Given the description of an element on the screen output the (x, y) to click on. 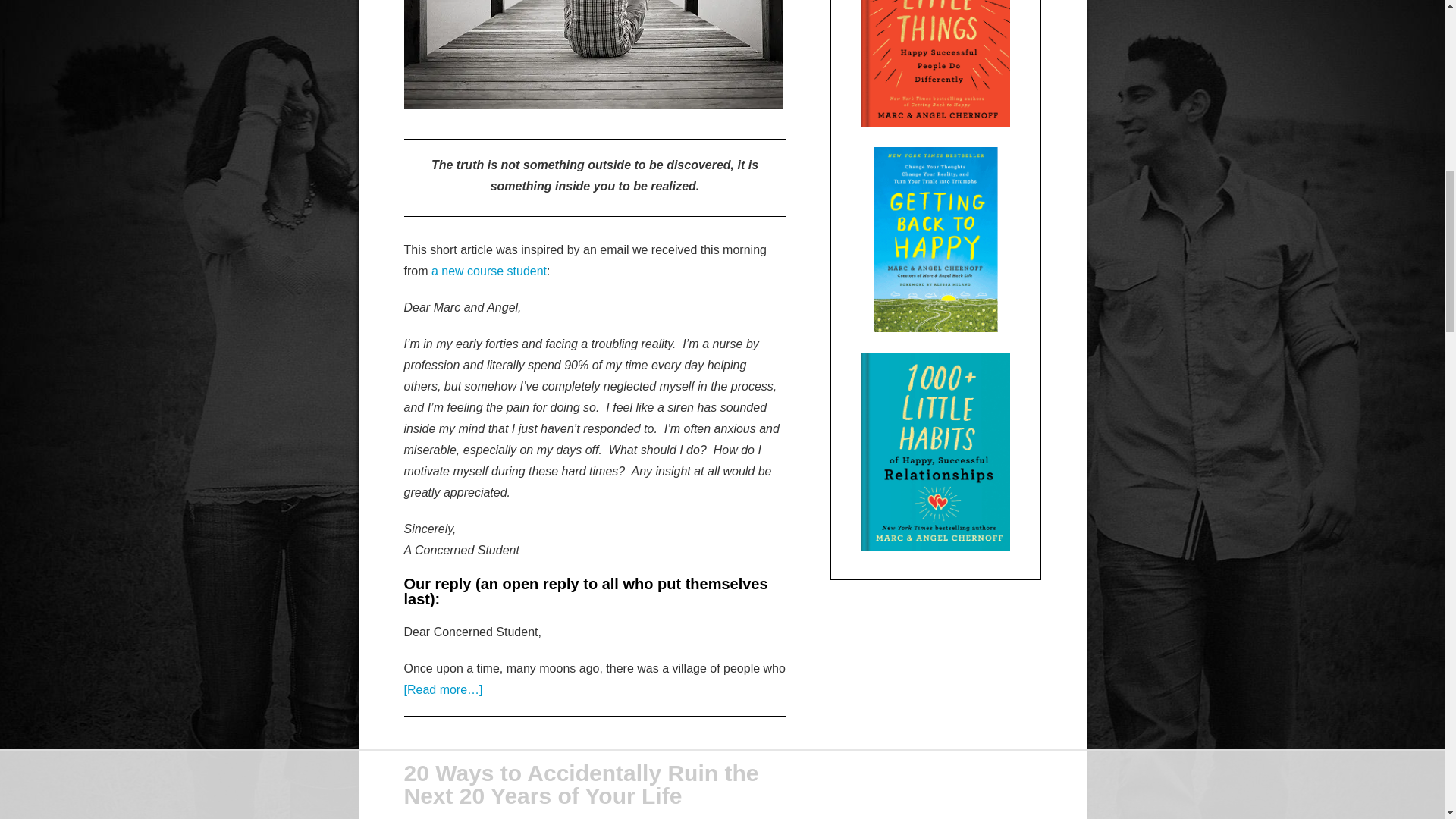
a new course student (488, 270)
20 Ways to Accidentally Ruin the Next 20 Years of Your Life (580, 784)
43 COMMENTS (615, 818)
